Given the description of an element on the screen output the (x, y) to click on. 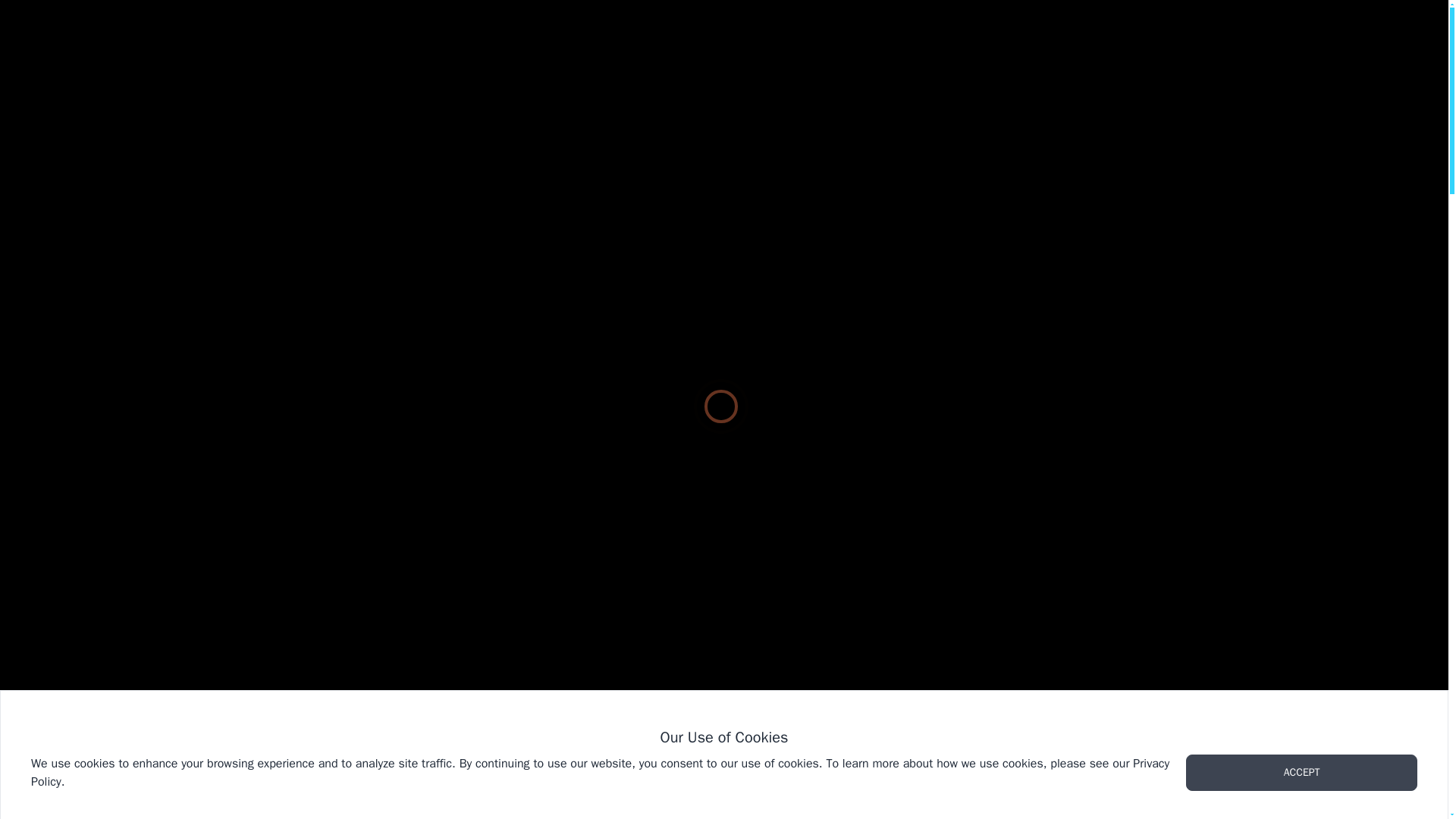
BOOK NOW (1355, 36)
ACCEPT (1301, 772)
Joy Island - Cocoon Collection (780, 184)
Home (613, 184)
Resorts (669, 184)
